Given the description of an element on the screen output the (x, y) to click on. 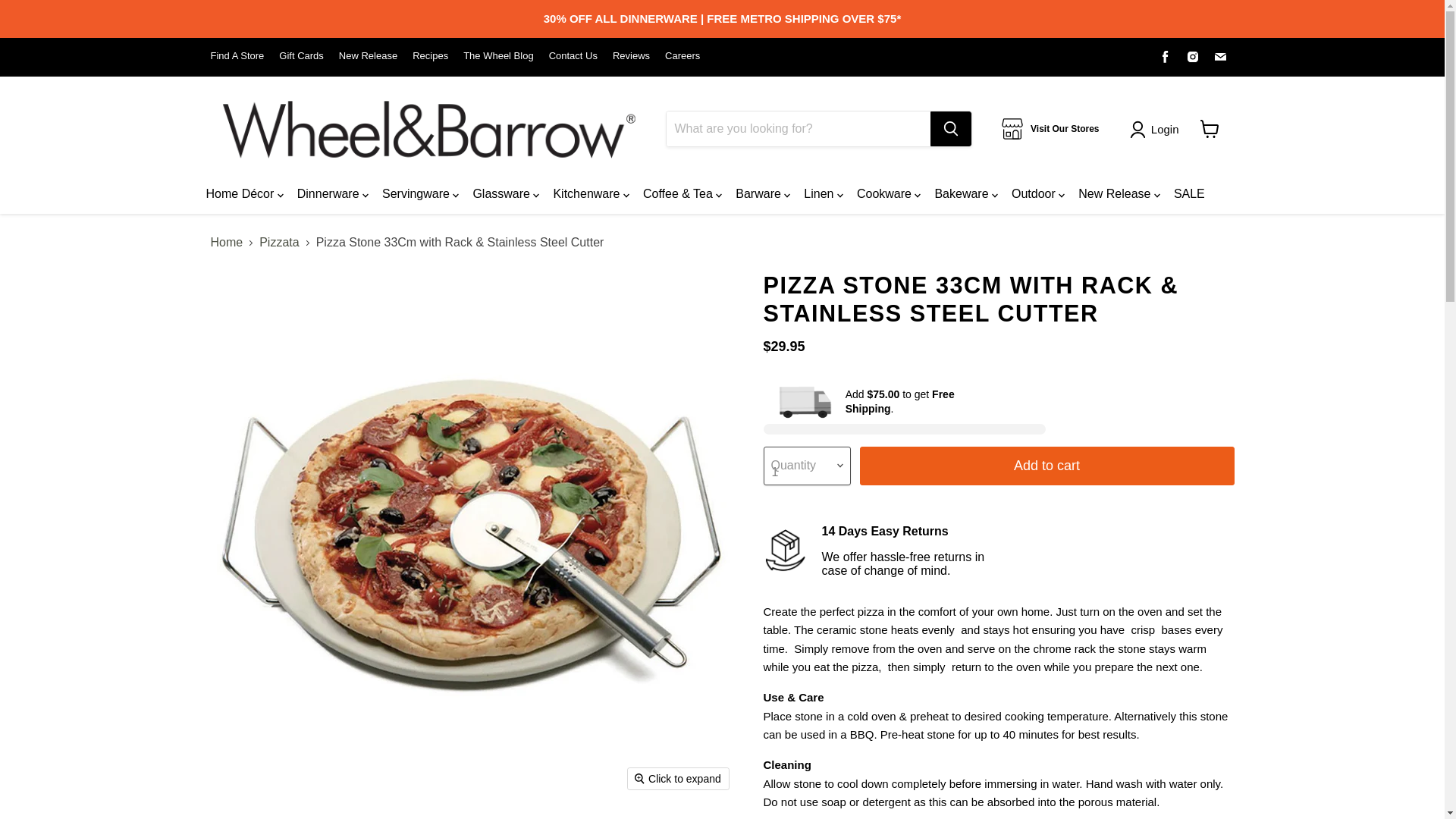
Find us on Facebook (1165, 55)
View cart (1208, 128)
The Wheel Blog (498, 56)
Careers (682, 56)
Facebook (1165, 55)
Visit Our Stores (1050, 128)
Find us on Email (1219, 55)
Find A Store (237, 56)
Gift Cards (301, 56)
New Release (368, 56)
Find us on Instagram (1193, 55)
Instagram (1193, 55)
Reviews (630, 56)
Login (1164, 128)
Recipes (430, 56)
